Given the description of an element on the screen output the (x, y) to click on. 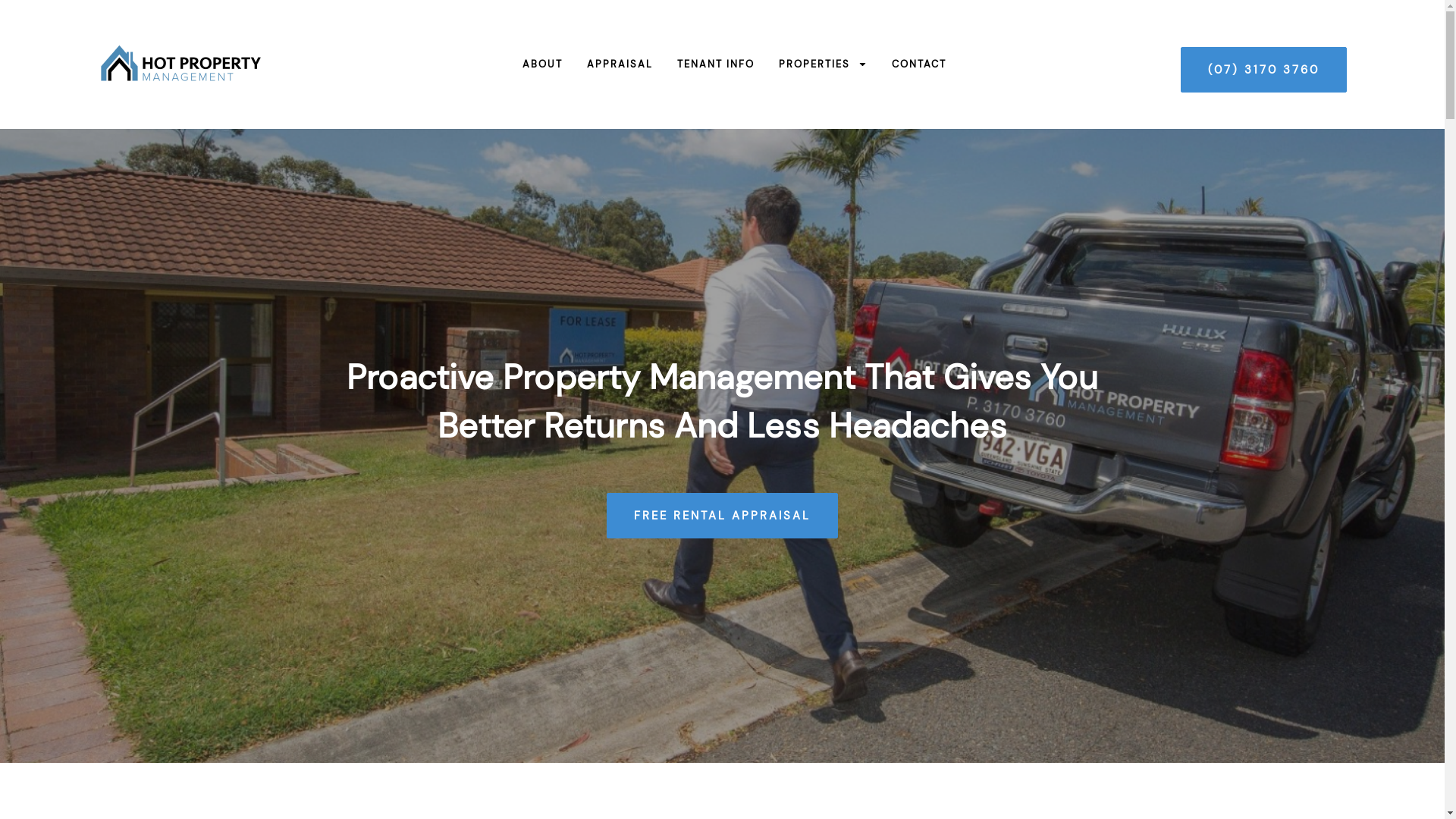
(07) 3170 3760 Element type: text (1263, 69)
FREE RENTAL APPRAISAL Element type: text (721, 515)
PROPERTIES Element type: text (810, 64)
ABOUT Element type: text (530, 64)
CONTACT Element type: text (906, 64)
TENANT INFO Element type: text (703, 64)
APPRAISAL Element type: text (607, 64)
